Given the description of an element on the screen output the (x, y) to click on. 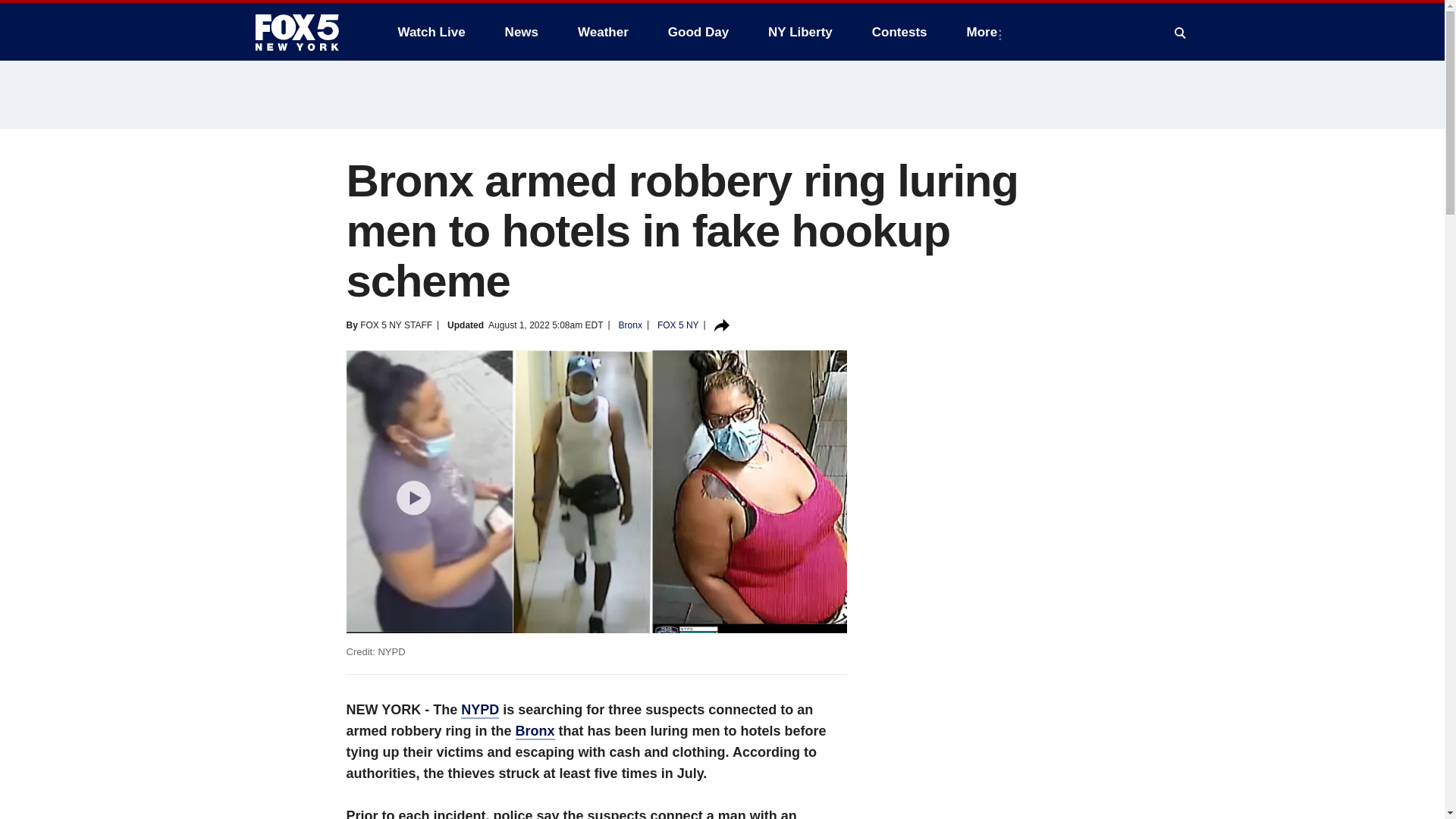
News (521, 32)
Watch Live (431, 32)
Weather (603, 32)
Good Day (698, 32)
More (985, 32)
Contests (899, 32)
NY Liberty (799, 32)
